Given the description of an element on the screen output the (x, y) to click on. 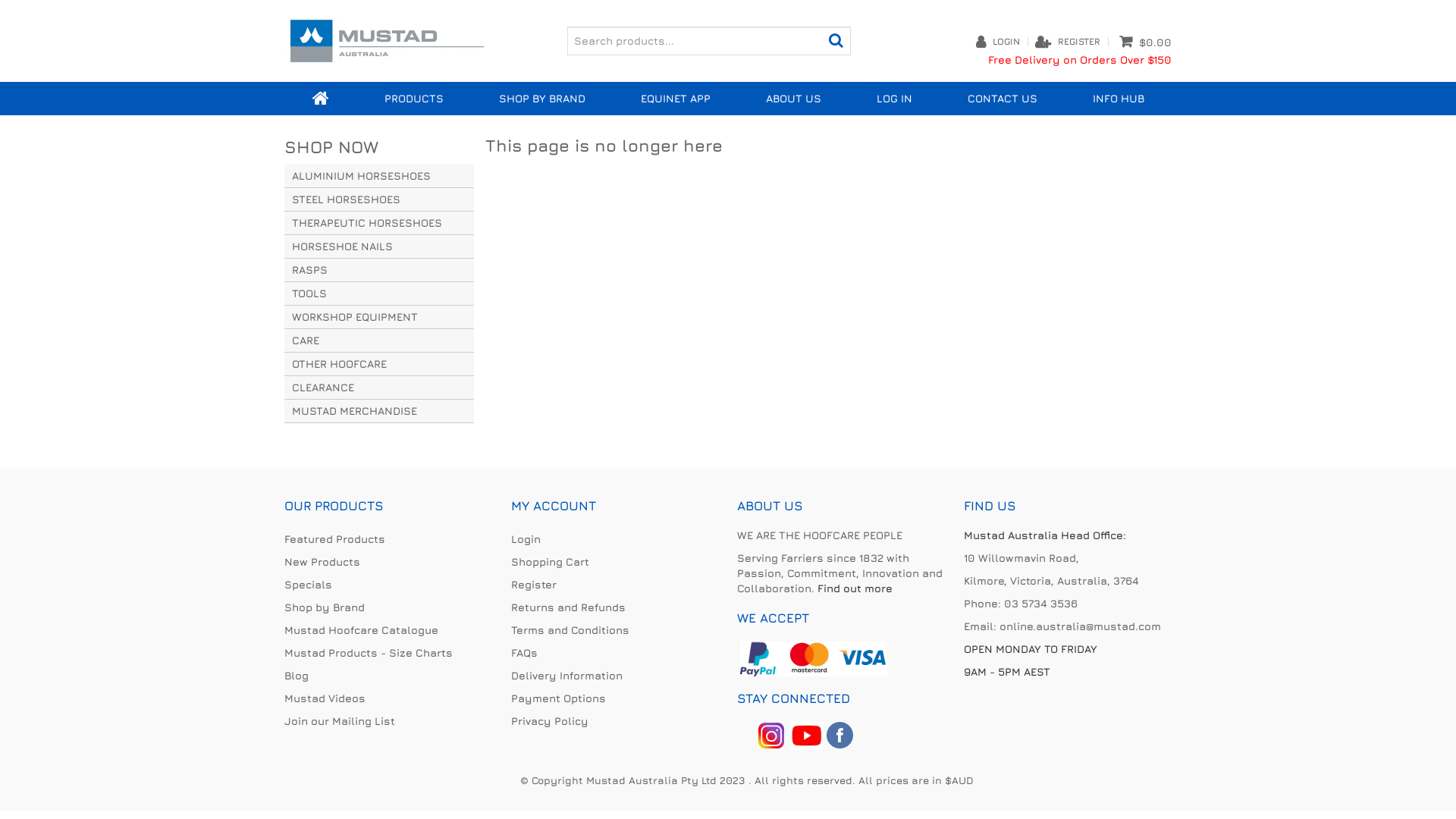
SHOP BY BRAND Element type: text (541, 98)
Mustad Videos Element type: text (388, 698)
INFO HUB Element type: text (1117, 98)
OTHER HOOFCARE Element type: text (378, 364)
Delivery Information Element type: text (614, 675)
HORSESHOE NAILS Element type: text (378, 246)
HOME Element type: text (320, 98)
Find out more Element type: text (854, 587)
MUSTAD MERCHANDISE Element type: text (378, 411)
Blog Element type: text (388, 675)
$0.00 Element type: text (1145, 41)
WORKSHOP EQUIPMENT Element type: text (378, 317)
ABOUT US Element type: text (792, 98)
online.australia@mustad.com Element type: text (1080, 625)
PRODUCTS Element type: text (413, 98)
Join our Mailing List Element type: text (388, 720)
    Element type: text (844, 733)
Privacy Policy Element type: text (614, 720)
Featured Products Element type: text (388, 538)
CONTACT US Element type: text (1001, 98)
CLEARANCE Element type: text (378, 387)
LOG IN Element type: text (893, 98)
Mustad Hoofcare Catalogue Element type: text (388, 629)
THERAPEUTIC HORSESHOES Element type: text (378, 223)
Specials Element type: text (388, 584)
REGISTER Element type: text (1078, 41)
Register Element type: text (614, 584)
ALUMINIUM HORSESHOES Element type: text (378, 176)
Facebook logo Element type: hover (806, 733)
Search Element type: text (836, 39)
FAQs Element type: text (614, 652)
Shopping Cart Element type: text (614, 561)
03 5734 3536 Element type: text (1040, 602)
TOOLS Element type: text (378, 293)
Login Element type: text (614, 538)
EQUINET APP Element type: text (674, 98)
Mustad Products - Size Charts Element type: text (388, 652)
Returns and Refunds Element type: text (614, 607)
RASPS Element type: text (378, 270)
Free Delivery on Orders Over $150 Element type: text (1079, 59)
New Products Element type: text (388, 561)
LOGIN Element type: text (1005, 41)
STEEL HORSESHOES Element type: text (378, 199)
Terms and Conditions Element type: text (614, 629)
Mustad Australia Logo Element type: hover (386, 38)
Payment Options Element type: text (614, 698)
CARE Element type: text (378, 340)
Instagram logo Element type: hover (771, 733)
Shop by Brand Element type: text (388, 607)
Facebook logo Element type: hover (844, 733)
